Given the description of an element on the screen output the (x, y) to click on. 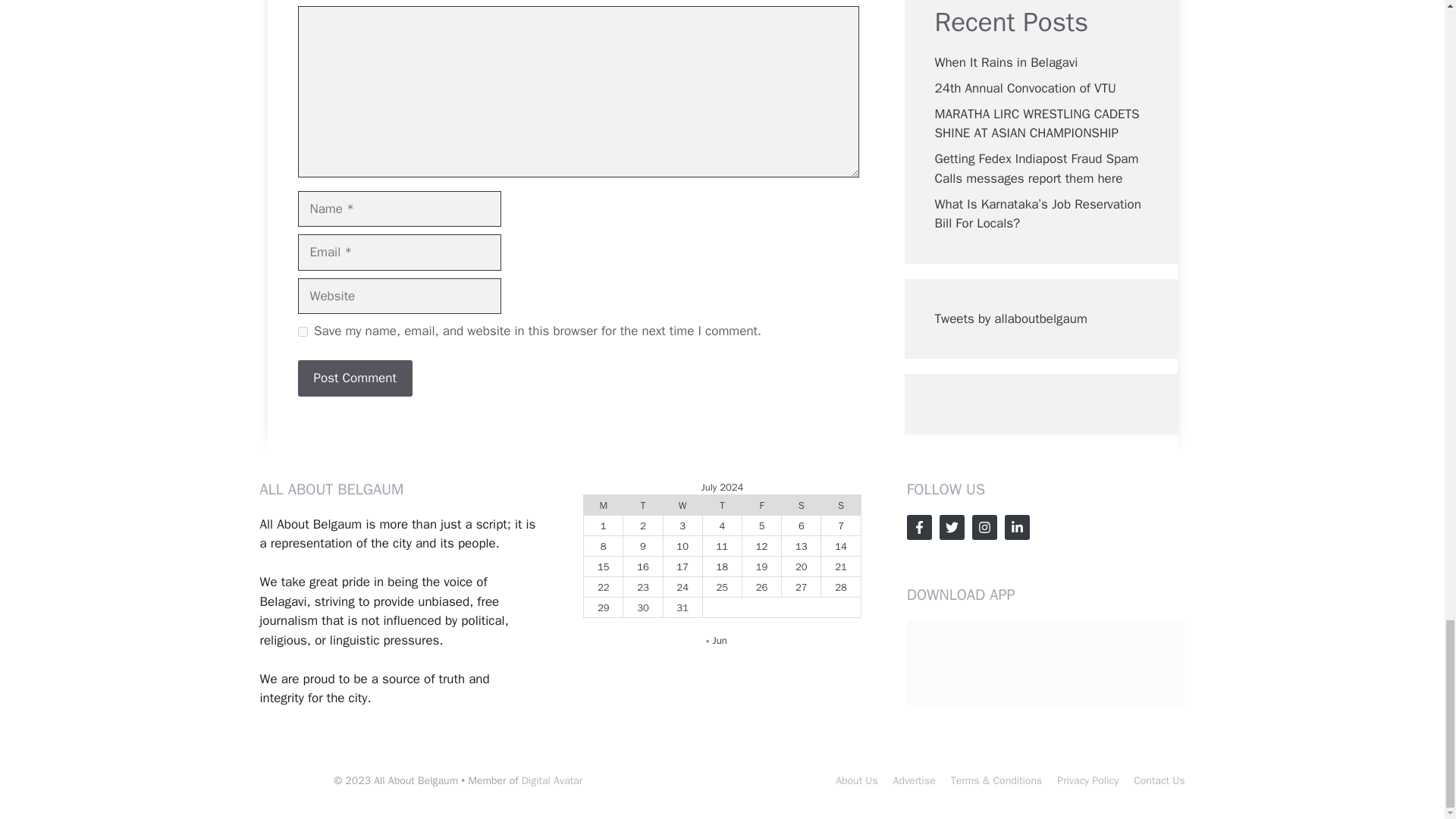
Tuesday (642, 505)
Thursday (721, 505)
Saturday (801, 505)
Friday (760, 505)
Post Comment (354, 378)
Monday (603, 505)
Wednesday (681, 505)
yes (302, 331)
Post Comment (354, 378)
